Given the description of an element on the screen output the (x, y) to click on. 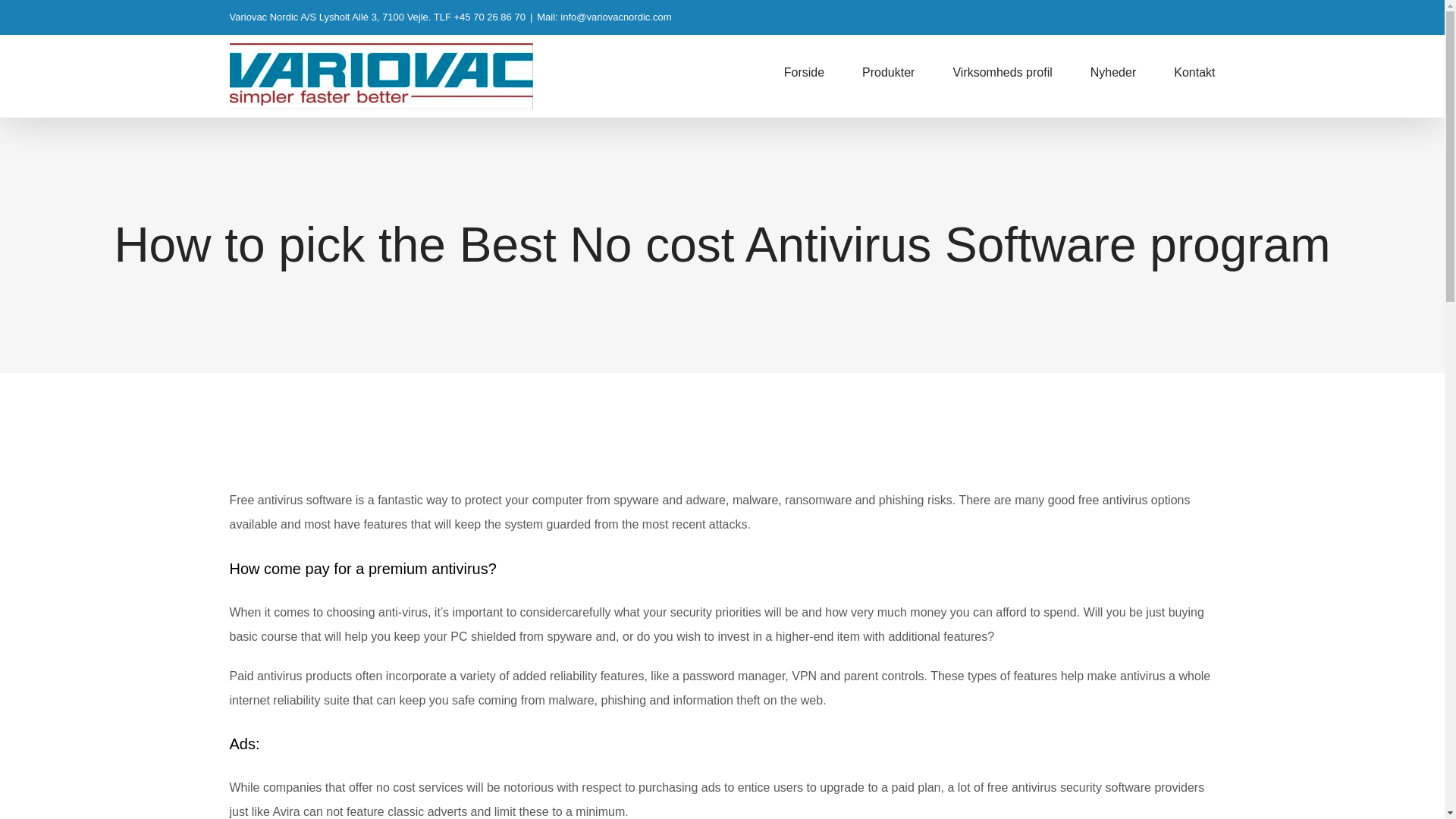
Virksomheds profil (1001, 72)
